Given the description of an element on the screen output the (x, y) to click on. 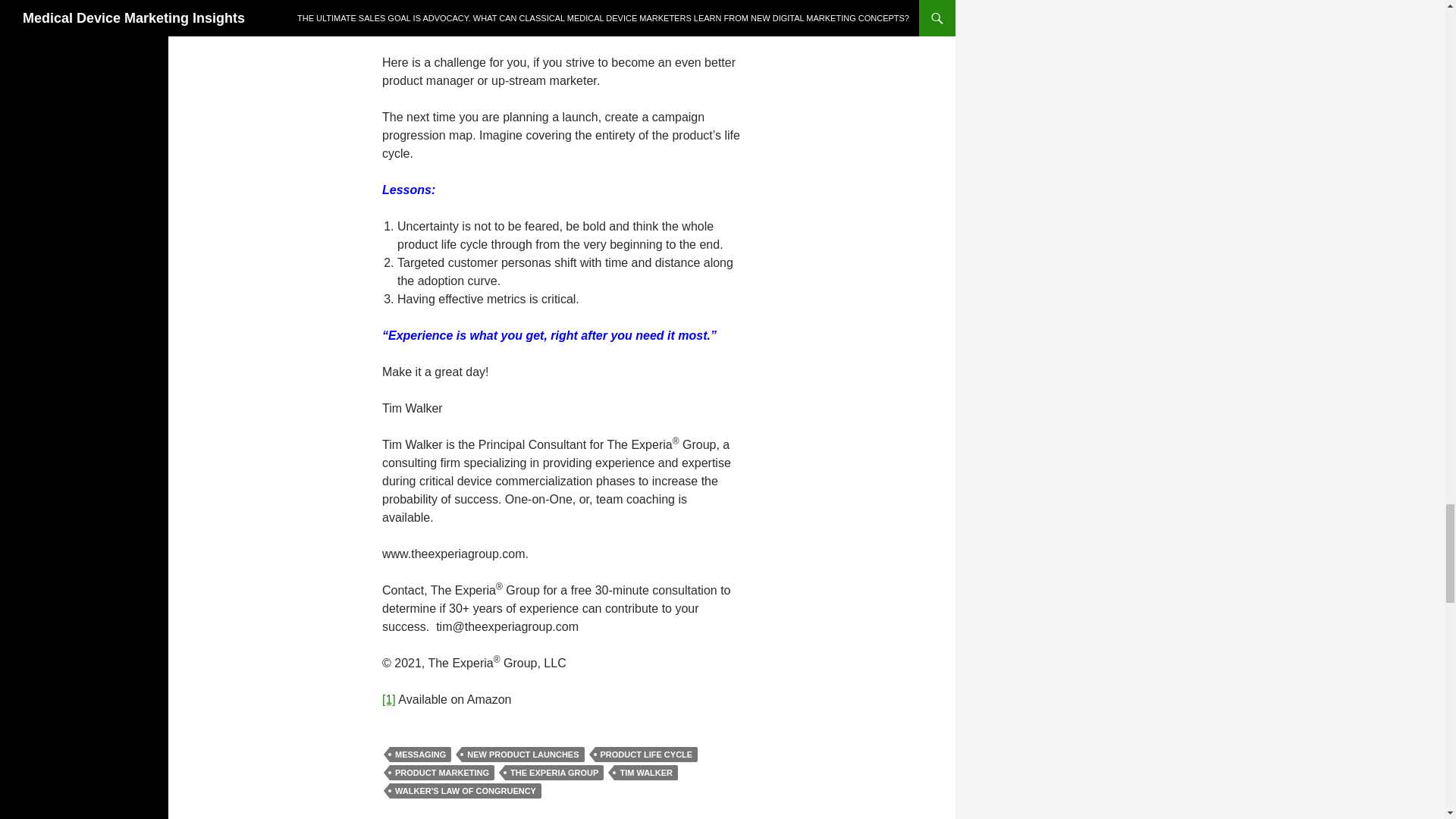
TIM WALKER (646, 772)
MESSAGING (420, 754)
PRODUCT LIFE CYCLE (646, 754)
THE EXPERIA GROUP (554, 772)
WALKER'S LAW OF CONGRUENCY (465, 790)
NEW PRODUCT LAUNCHES (522, 754)
PRODUCT MARKETING (442, 772)
